Given the description of an element on the screen output the (x, y) to click on. 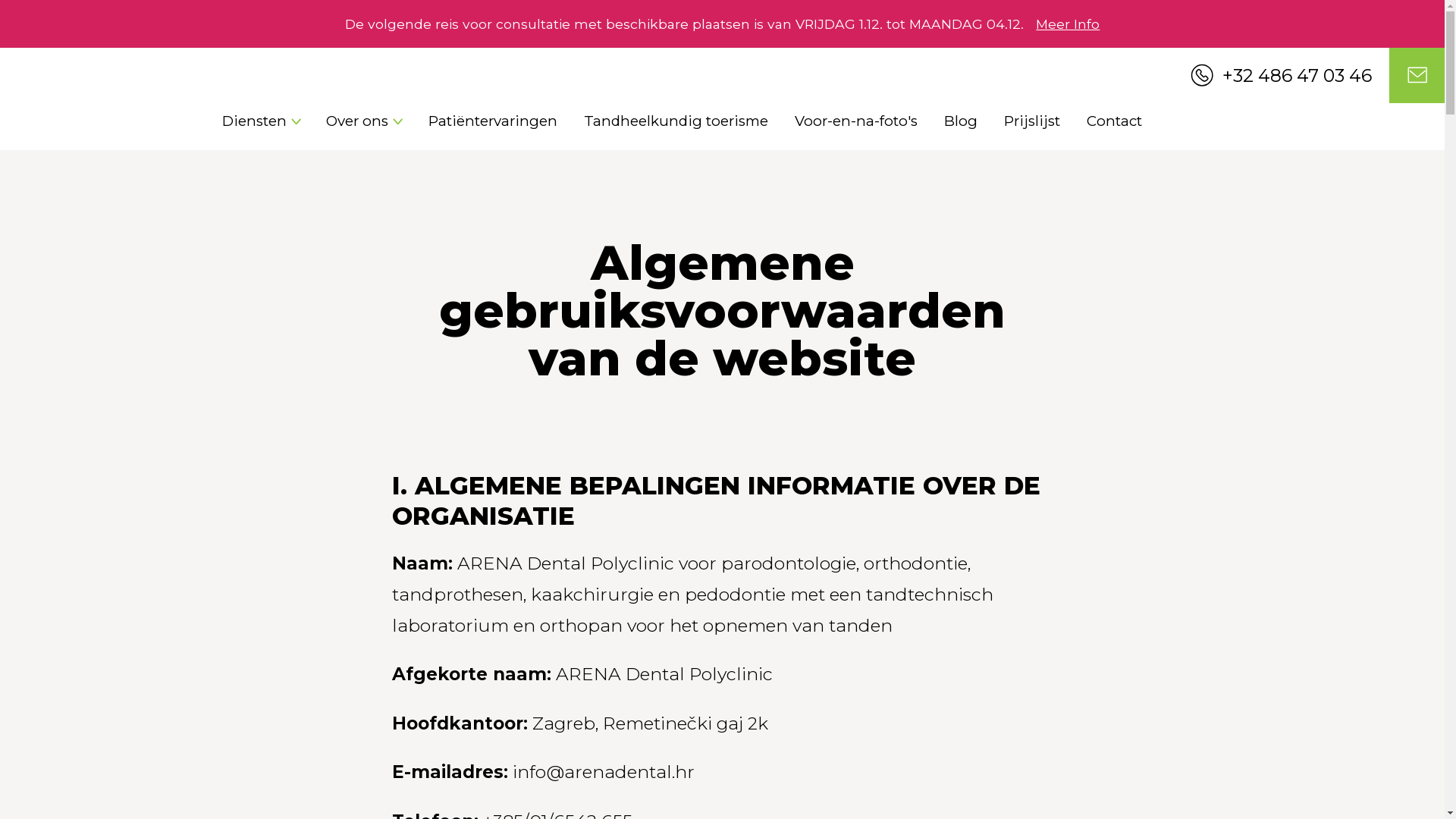
Blog Element type: text (960, 120)
Tandheelkundig toerisme Element type: text (675, 120)
Prijslijst Element type: text (1032, 120)
Contact Element type: text (1114, 120)
+32 486 47 03 46 Element type: text (1290, 74)
Voor-en-na-foto's Element type: text (855, 120)
Meer Info Element type: text (1067, 23)
